Given the description of an element on the screen output the (x, y) to click on. 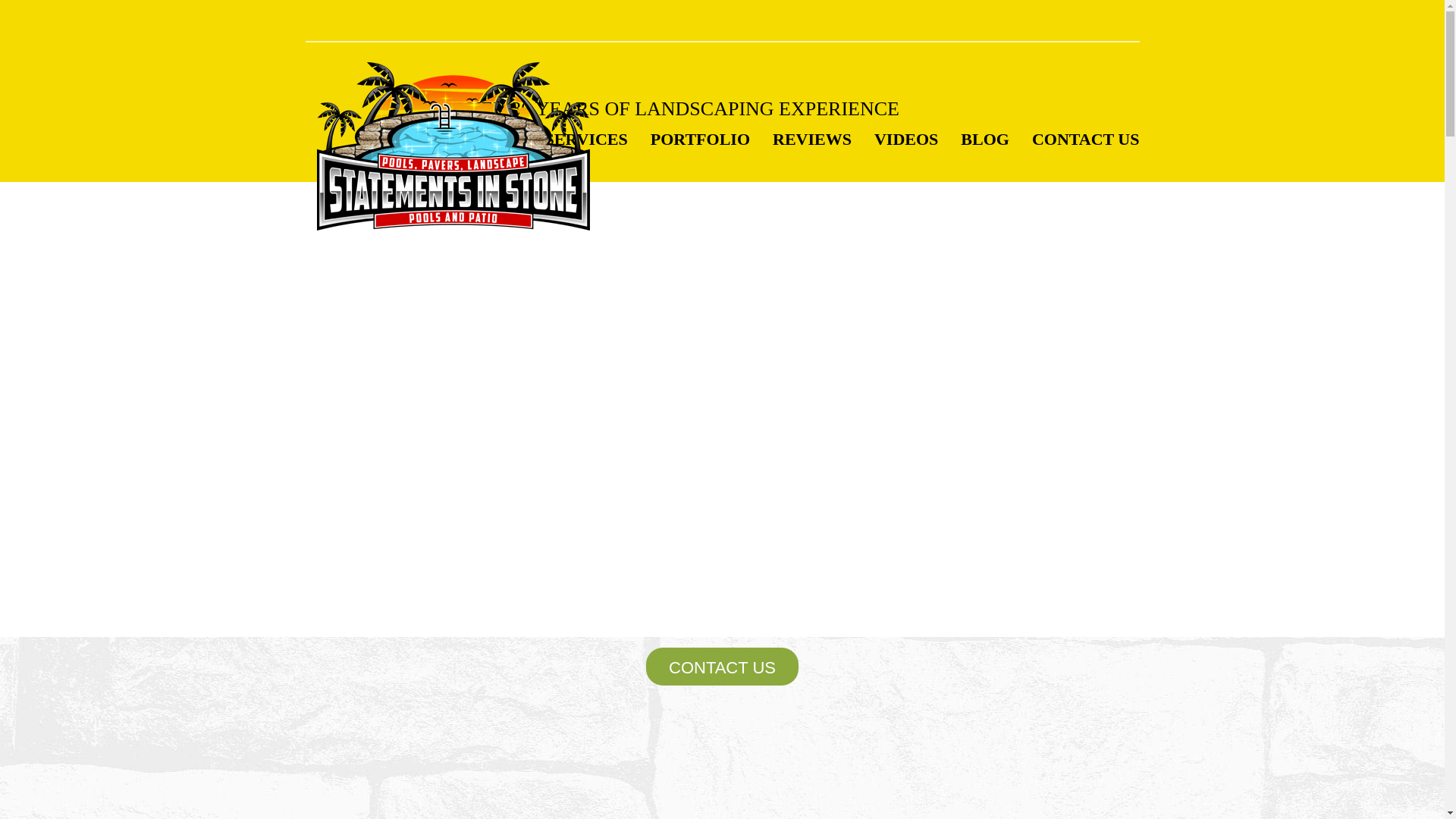
ABOUT US (479, 137)
REVIEWS (812, 137)
CONTACT US (1086, 137)
HOME (387, 137)
PORTFOLIO (699, 137)
BLOG (984, 137)
SERVICES (585, 137)
VIDEOS (906, 137)
Statements In Stone, Inc. (453, 147)
